Given the description of an element on the screen output the (x, y) to click on. 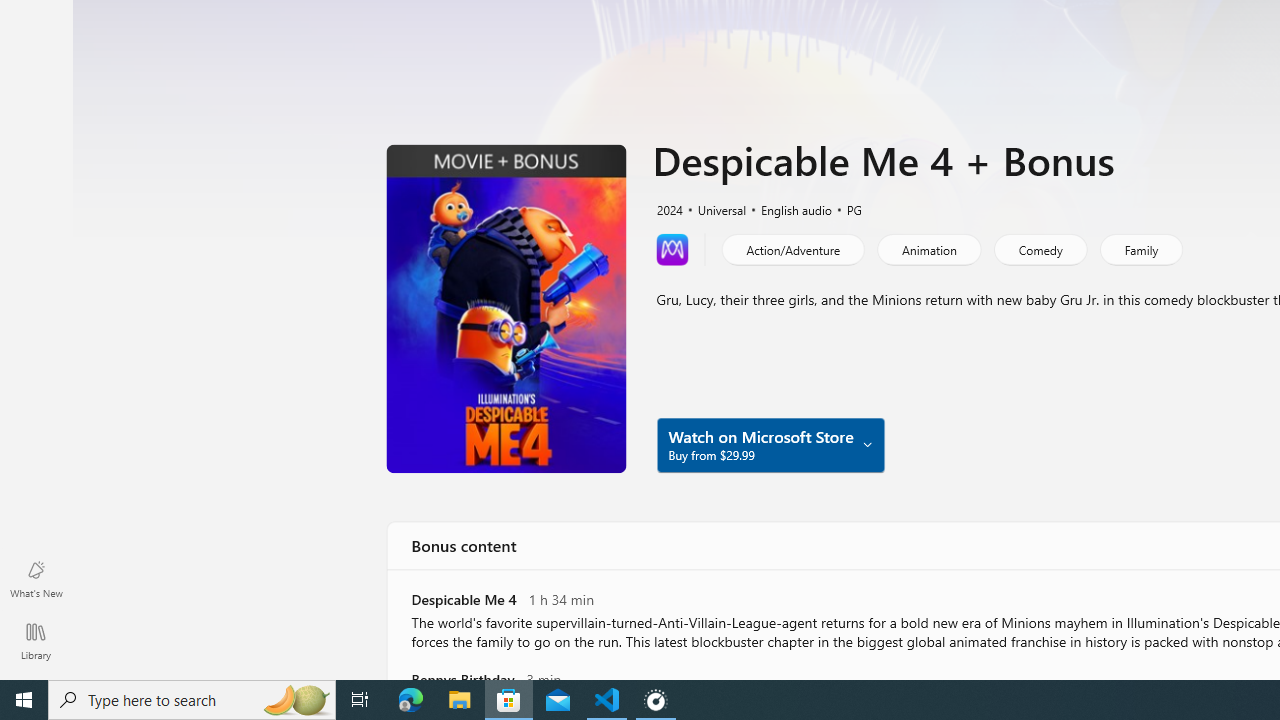
Comedy (1039, 248)
Universal (713, 208)
English audio (786, 208)
Action/Adventure (792, 248)
Watch on Microsoft Store Buy from $29.99 (769, 444)
PG (845, 208)
Family (1140, 248)
Animation (928, 248)
2024 (667, 208)
Learn more about Movies Anywhere (671, 248)
